Given the description of an element on the screen output the (x, y) to click on. 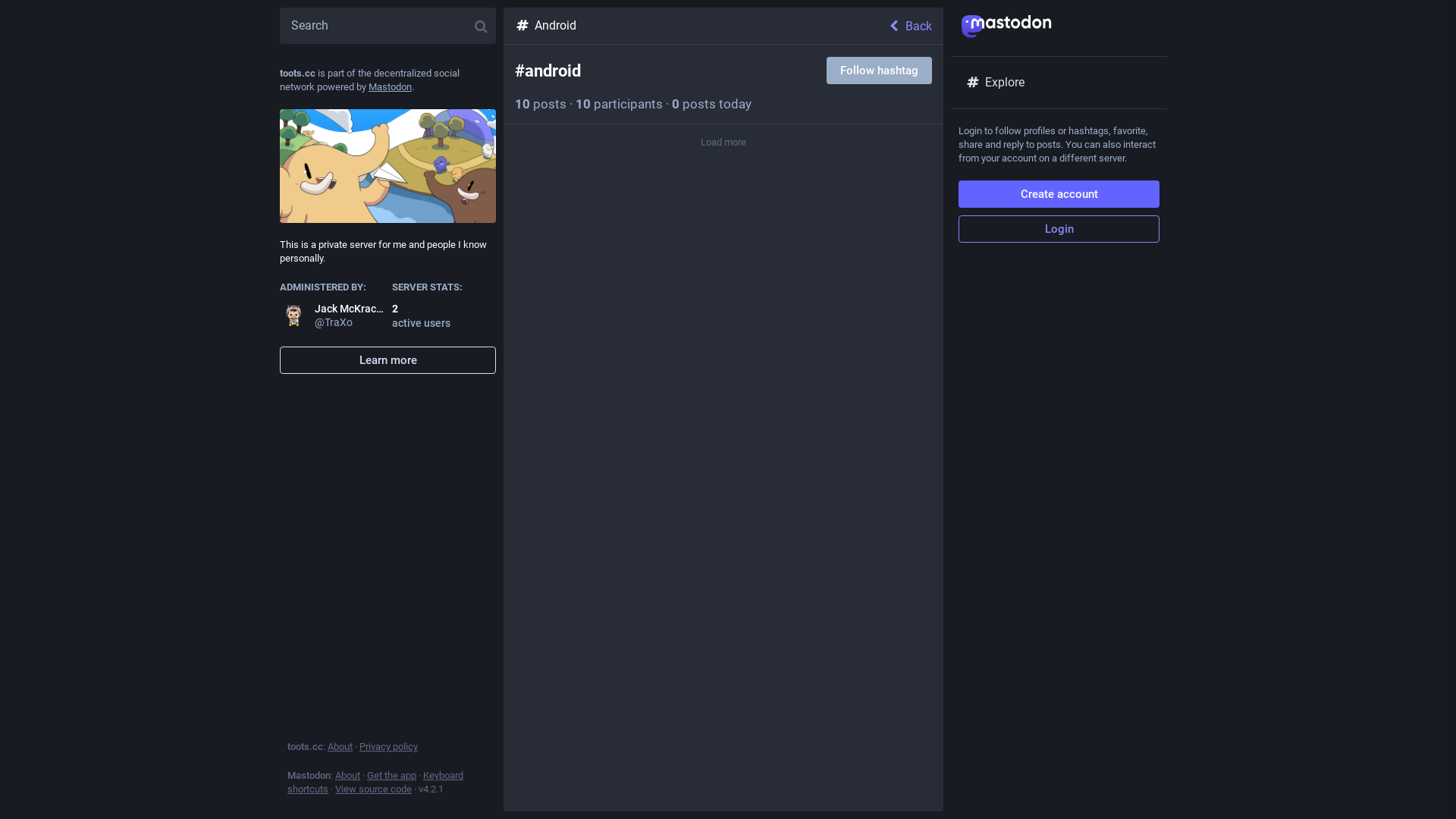
Create account Element type: text (1058, 193)
Load more Element type: text (723, 142)
Learn more Element type: text (387, 359)
Login Element type: text (1058, 228)
View source code Element type: text (373, 788)
About Element type: text (339, 746)
Explore Element type: text (1058, 82)
Keyboard shortcuts Element type: text (375, 781)
Privacy policy Element type: text (388, 746)
Jack McKracken
@TraXo Element type: text (331, 315)
Follow hashtag Element type: text (878, 70)
About Element type: text (347, 775)
Get the app Element type: text (391, 775)
Android Element type: text (694, 25)
Back Element type: text (914, 25)
Mastodon Element type: text (389, 86)
